Given the description of an element on the screen output the (x, y) to click on. 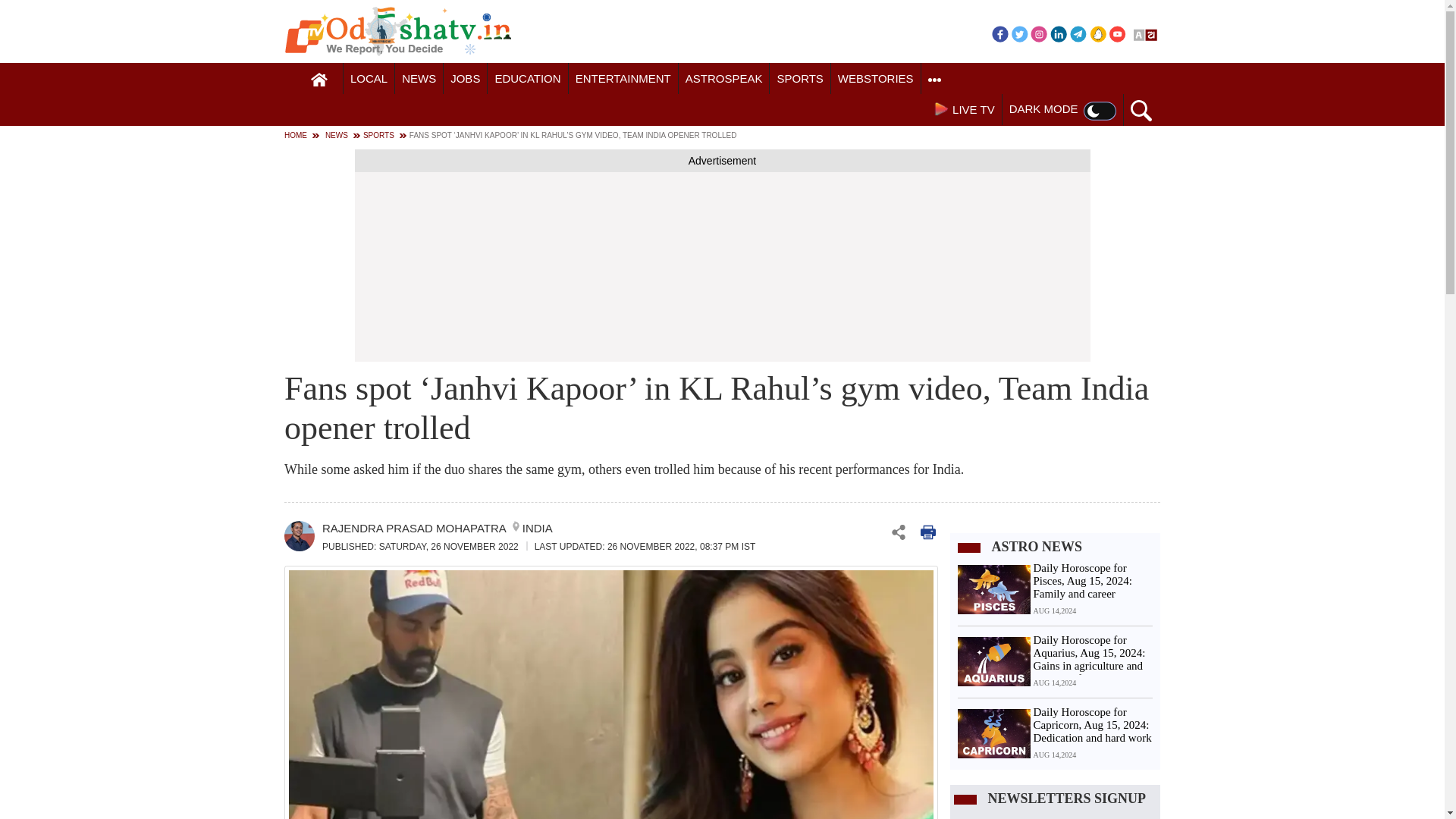
Koo (1097, 33)
JOBS (465, 78)
ENTERTAINMENT (623, 78)
Odisha (368, 78)
Instagram (1038, 33)
EDUCATION (527, 78)
NEWS (418, 78)
OdishaTV (397, 31)
News (418, 78)
Telegram (1078, 33)
